Given the description of an element on the screen output the (x, y) to click on. 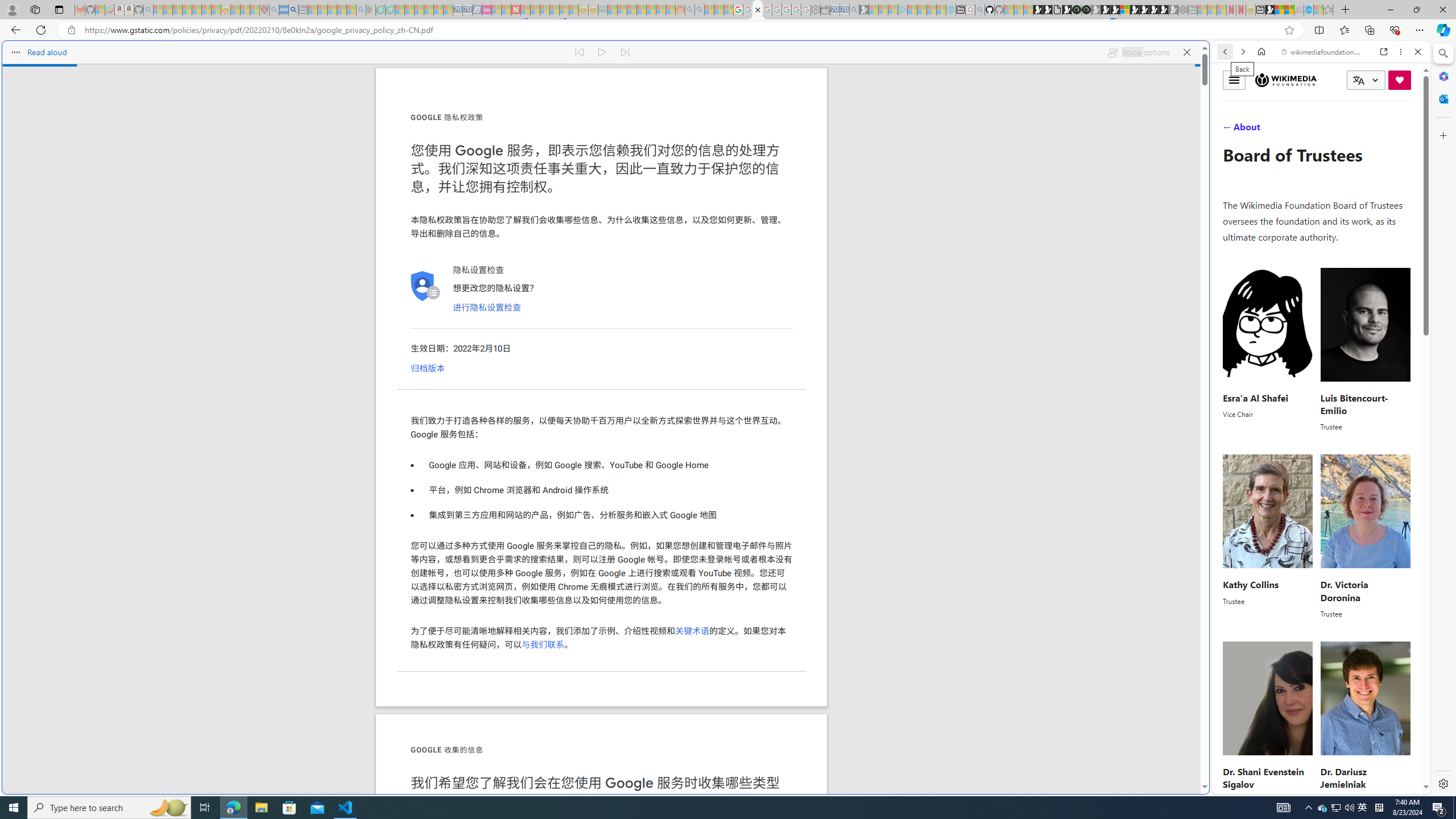
CURRENT LANGUAGE: (1366, 80)
Dr. Shani Evenstein SigalovTrustee (1268, 723)
